Given the description of an element on the screen output the (x, y) to click on. 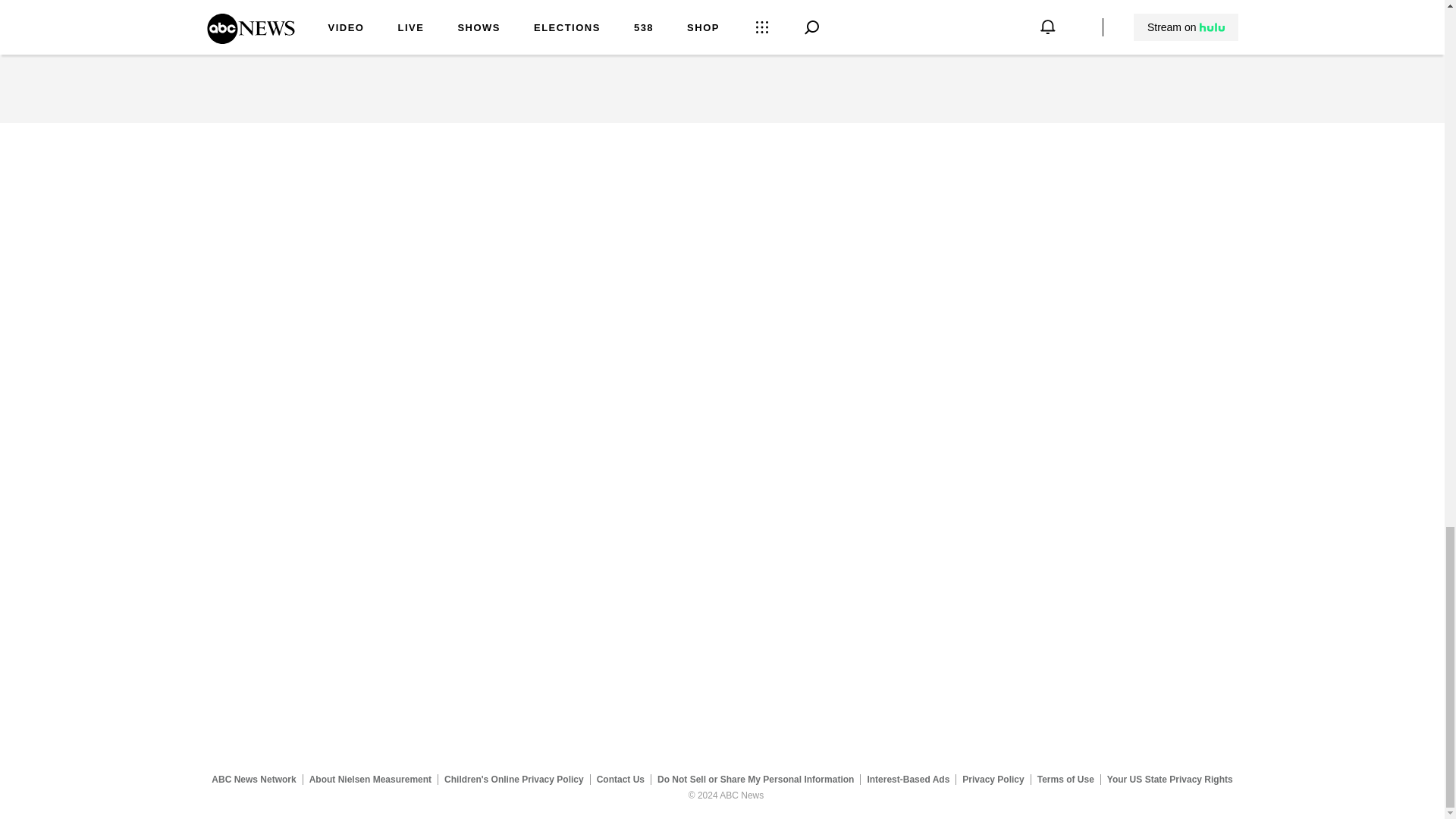
ABC News Network (253, 778)
Terms of Use (1065, 778)
Privacy Policy (993, 778)
Contact Us (620, 778)
Your US State Privacy Rights (1169, 778)
Children's Online Privacy Policy (514, 778)
Interest-Based Ads (908, 778)
Do Not Sell or Share My Personal Information (755, 778)
About Nielsen Measurement (370, 778)
